Given the description of an element on the screen output the (x, y) to click on. 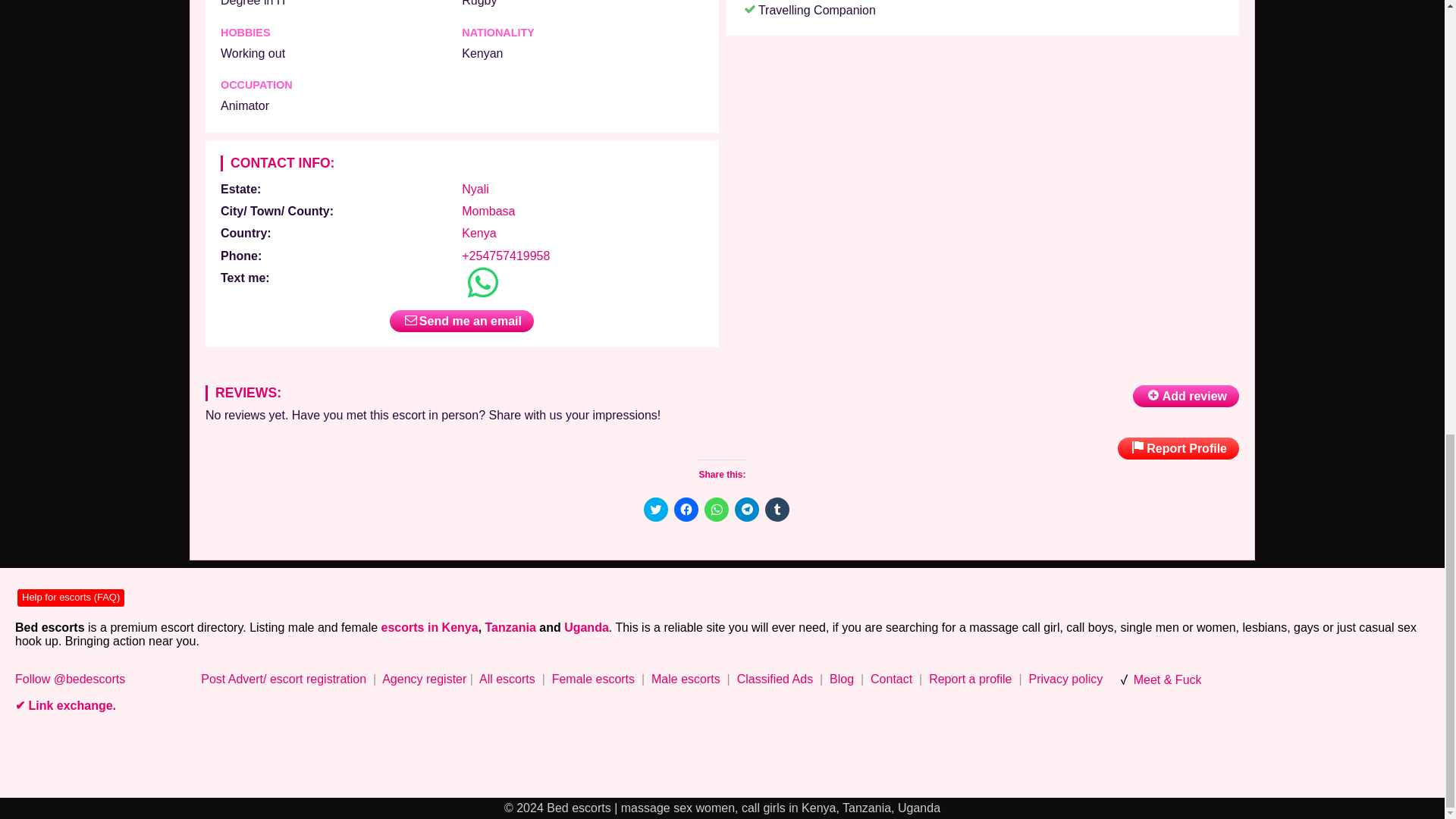
Kenya (478, 232)
Kenya (478, 232)
Nyali (475, 188)
Mombasa (488, 210)
Click to share on Facebook (684, 509)
Click to share on Twitter (654, 509)
Mombasa (488, 210)
Click to share on Tumblr (776, 509)
Click to share on Telegram (745, 509)
Click to share on WhatsApp (715, 509)
Nyali (475, 188)
